Given the description of an element on the screen output the (x, y) to click on. 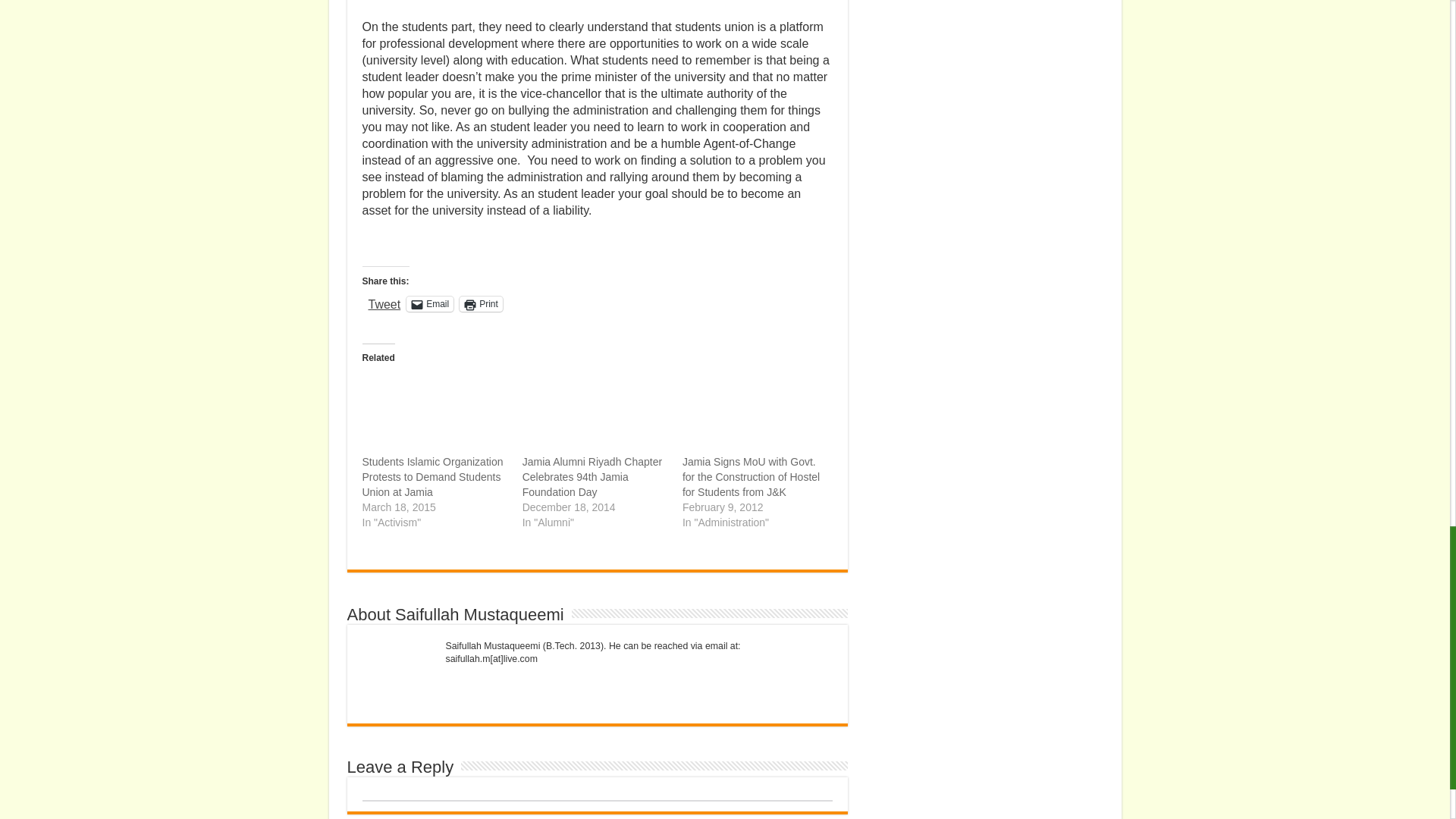
Click to email a link to a friend (429, 304)
Click to print (481, 304)
